Given the description of an element on the screen output the (x, y) to click on. 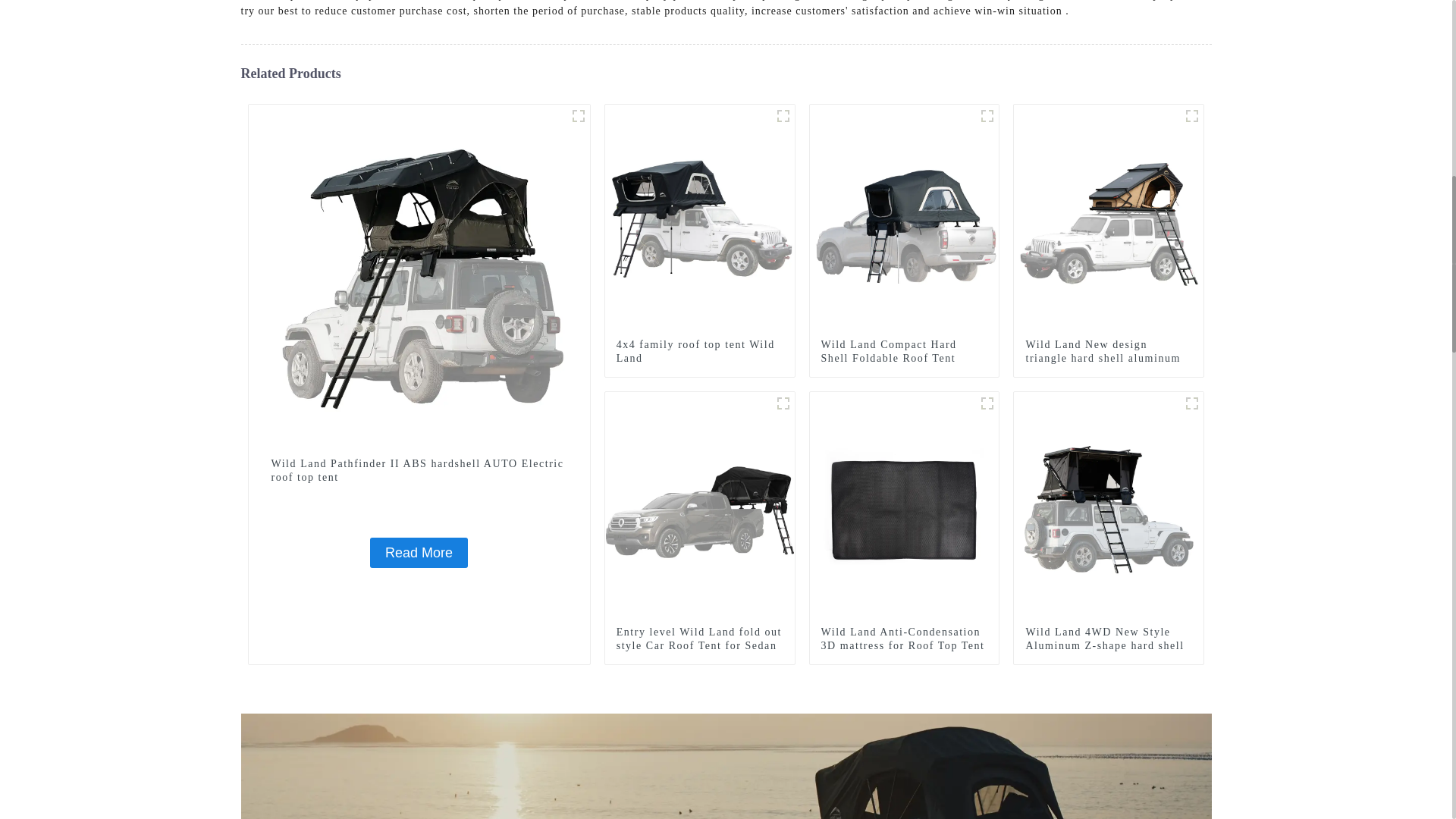
4x4 family roof top tent Wild Land (699, 351)
Wild Land Compact Hard Shell Foldable Roof Tent (903, 218)
4x4 family roof top tent Wild Land (699, 218)
2-person-clam-shell-roof-tent (1192, 115)
2-person-tent (782, 403)
800x800-1 (782, 115)
